Given the description of an element on the screen output the (x, y) to click on. 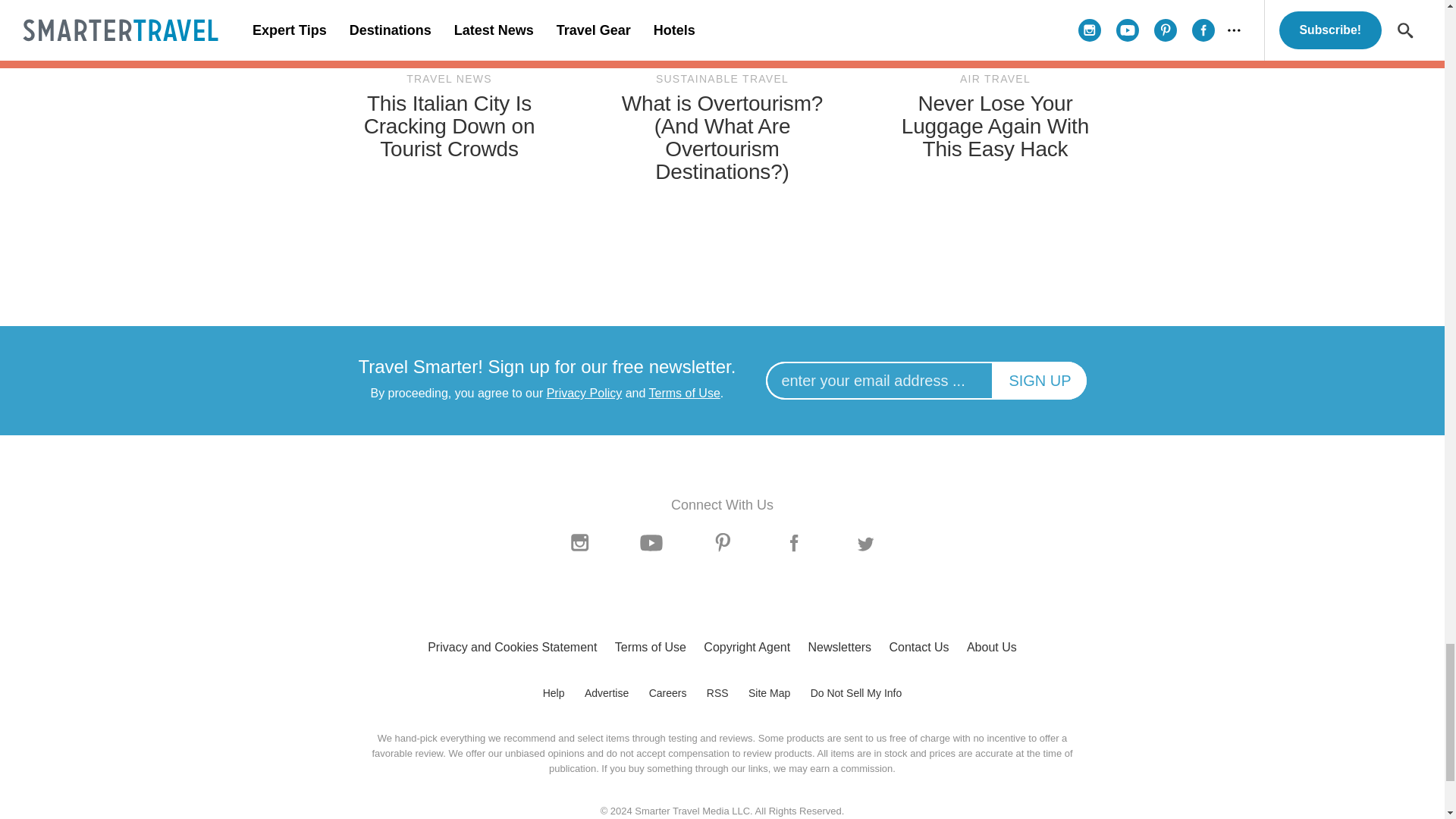
View all posts in Air Travel (994, 79)
View all posts in Sustainable Travel (722, 79)
View all posts in Travel News (449, 79)
